Given the description of an element on the screen output the (x, y) to click on. 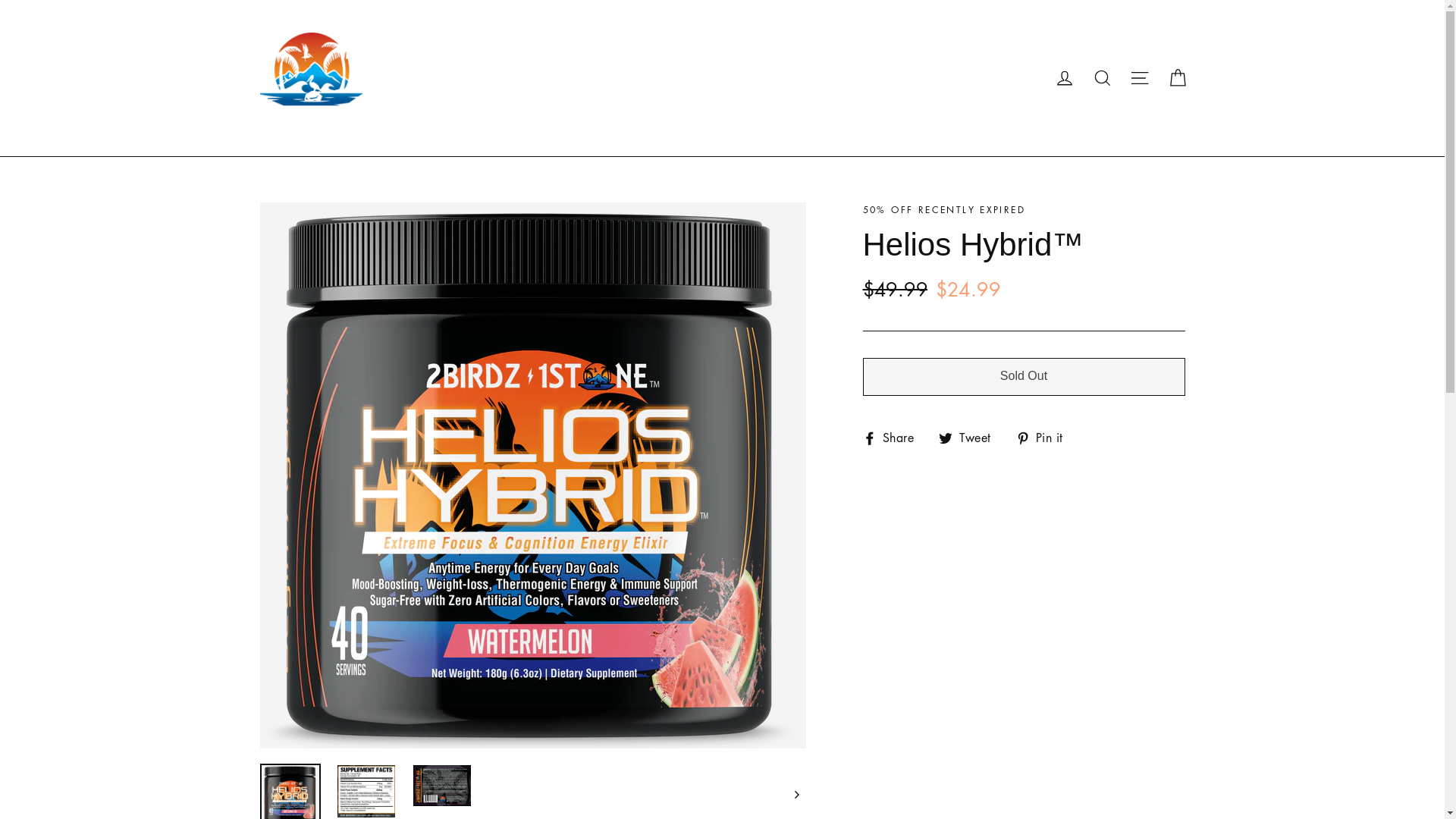
Skip to content Element type: text (0, 0)
Sold Out Element type: text (1023, 376)
Cart Element type: text (1176, 78)
Site navigation Element type: text (1139, 78)
Tweet
Tweet on Twitter Element type: text (970, 437)
50% OFF RECENTLY EXPIRED Element type: text (944, 209)
Log in Element type: text (1064, 78)
Share
Share on Facebook Element type: text (893, 437)
Pin it
Pin on Pinterest Element type: text (1045, 437)
Search Element type: text (1102, 78)
